Given the description of an element on the screen output the (x, y) to click on. 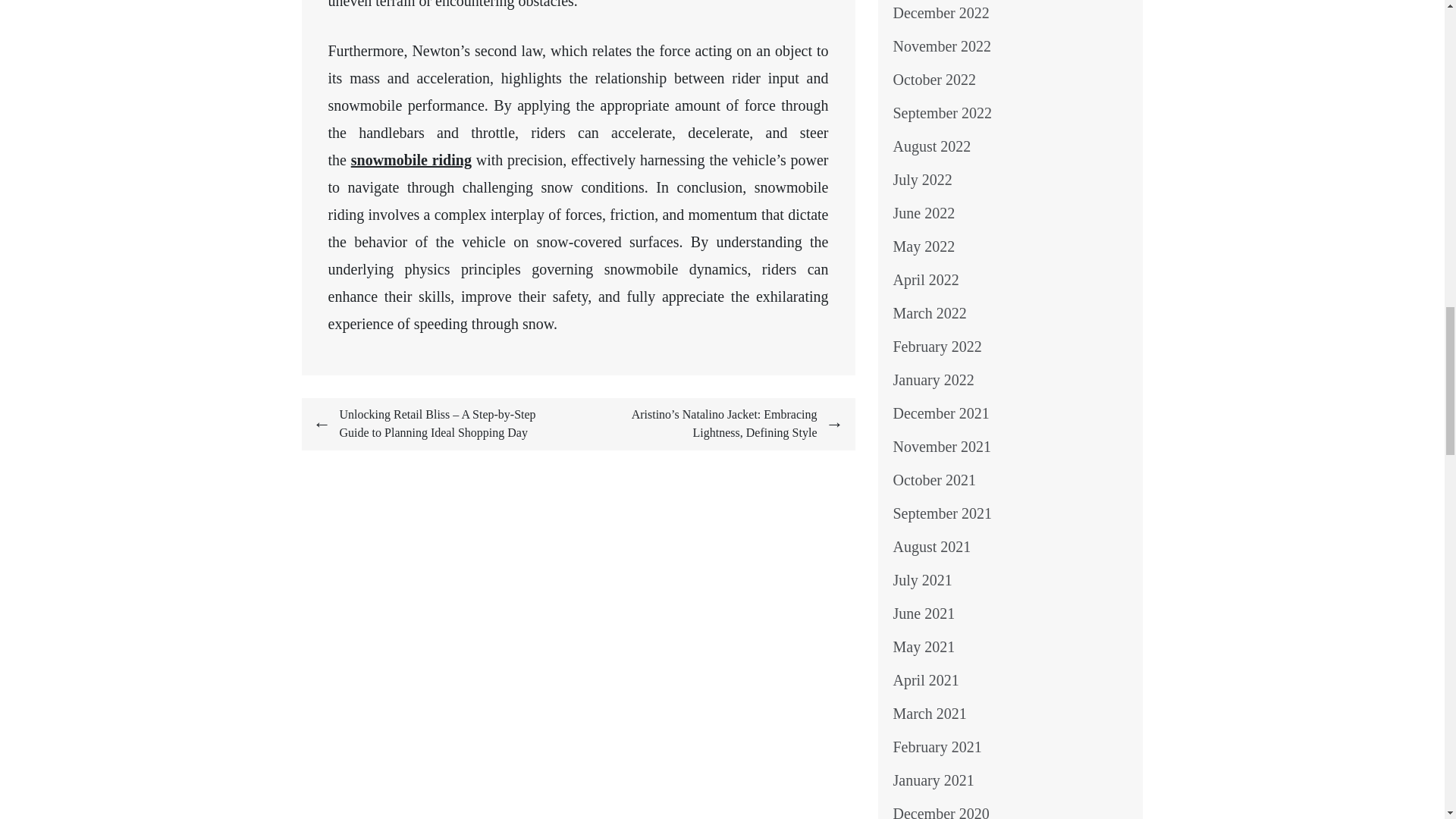
July 2022 (922, 179)
snowmobile riding (410, 159)
June 2022 (924, 212)
August 2022 (932, 146)
December 2022 (941, 12)
October 2022 (934, 79)
September 2022 (942, 112)
November 2022 (942, 45)
